Given the description of an element on the screen output the (x, y) to click on. 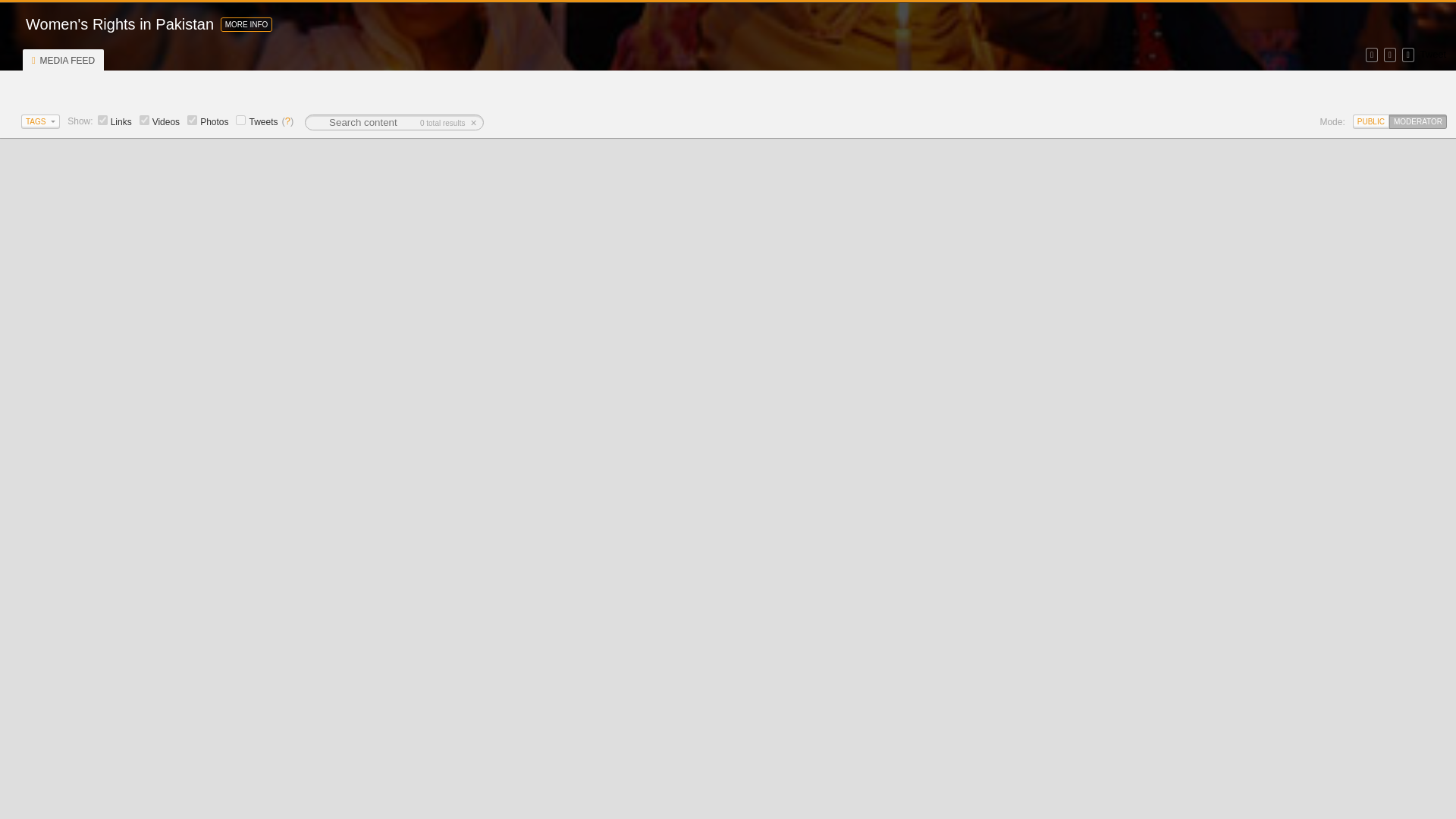
on (240, 120)
on (144, 120)
on (191, 120)
on (102, 120)
